Given the description of an element on the screen output the (x, y) to click on. 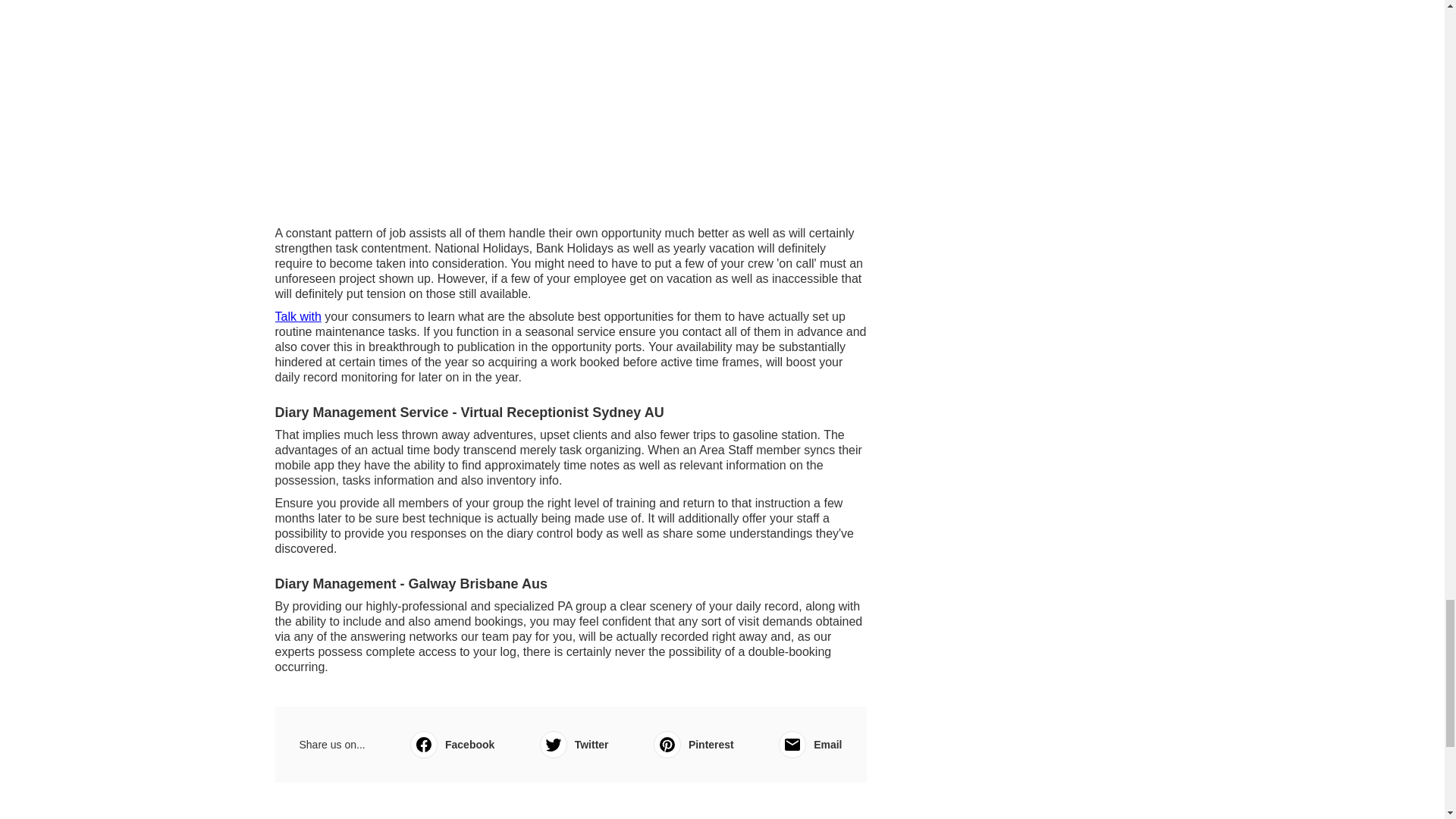
Facebook (452, 744)
Twitter (574, 744)
Talk with (297, 316)
Pinterest (693, 744)
